Given the description of an element on the screen output the (x, y) to click on. 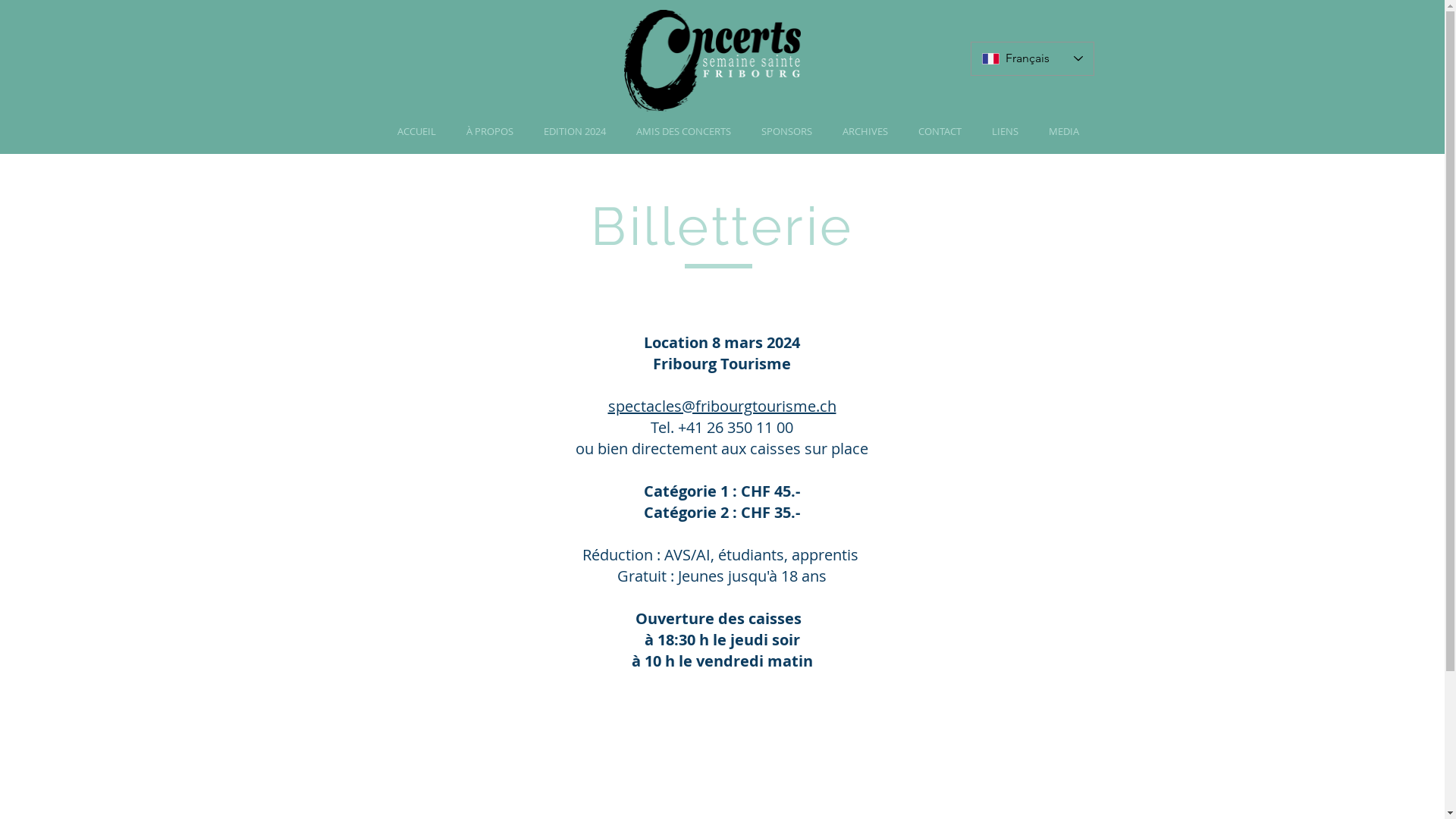
spectacles@fribourgtourisme.ch Element type: text (722, 405)
SPONSORS Element type: text (786, 131)
AMIS DES CONCERTS Element type: text (682, 131)
LIENS Element type: text (1004, 131)
CONCETS de la semaine sainte  FRIBOURG Element type: hover (711, 62)
EDITION 2024 Element type: text (573, 131)
ARCHIVES Element type: text (864, 131)
ACCUEIL Element type: text (416, 131)
MEDIA Element type: text (1062, 131)
CONTACT Element type: text (938, 131)
